Given the description of an element on the screen output the (x, y) to click on. 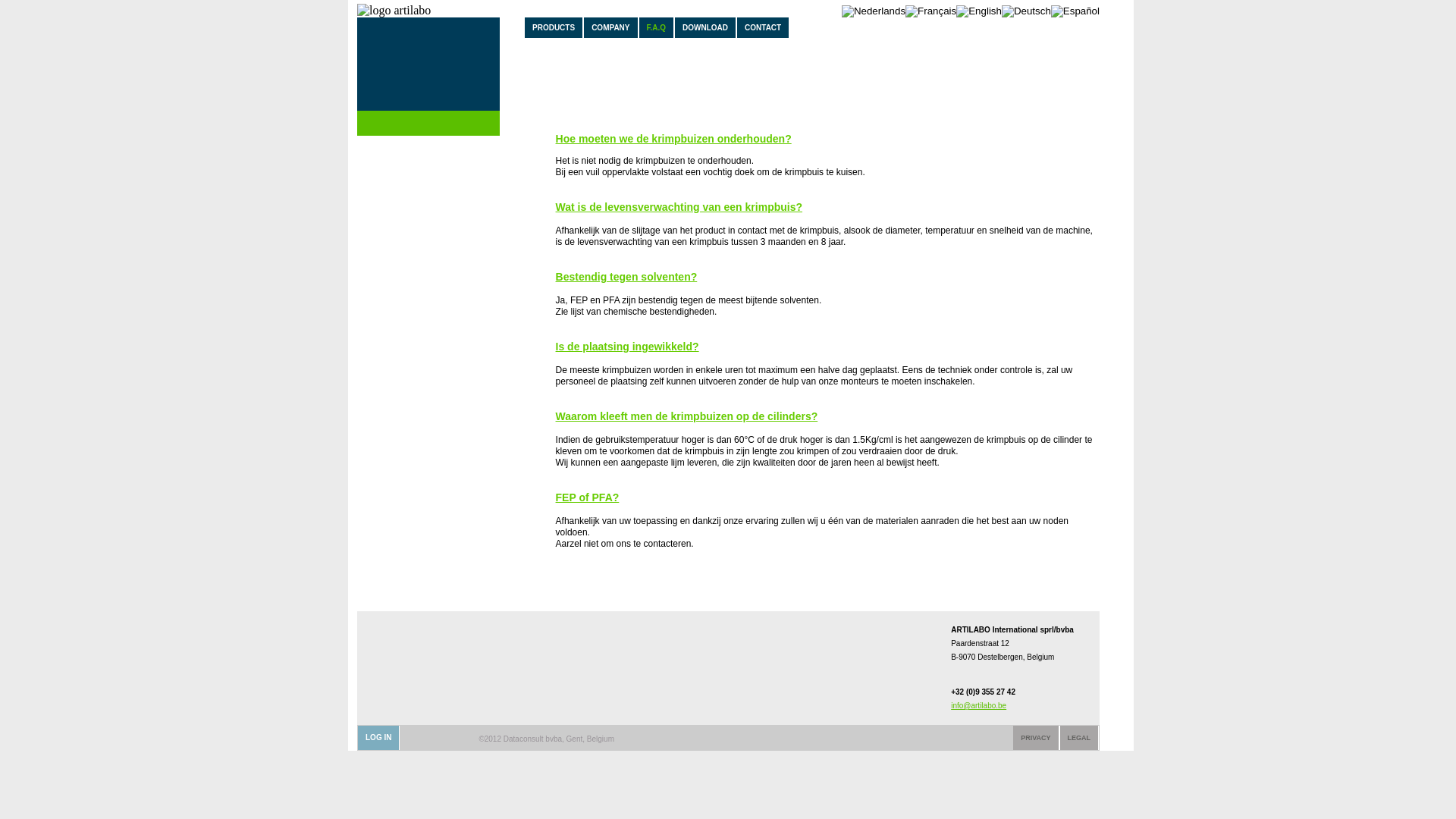
Nederlands Element type: hover (873, 11)
DOWNLOAD Element type: text (705, 27)
LOG IN Element type: text (378, 737)
F.A.Q Element type: text (655, 27)
PRIVACY Element type: text (1035, 737)
CONTACT Element type: text (762, 27)
LEGAL Element type: text (1079, 737)
Deutsch Element type: hover (1026, 11)
COMPANY Element type: text (610, 27)
info@artilabo.be Element type: text (978, 705)
PRODUCTS Element type: text (553, 27)
English Element type: hover (978, 11)
